Given the description of an element on the screen output the (x, y) to click on. 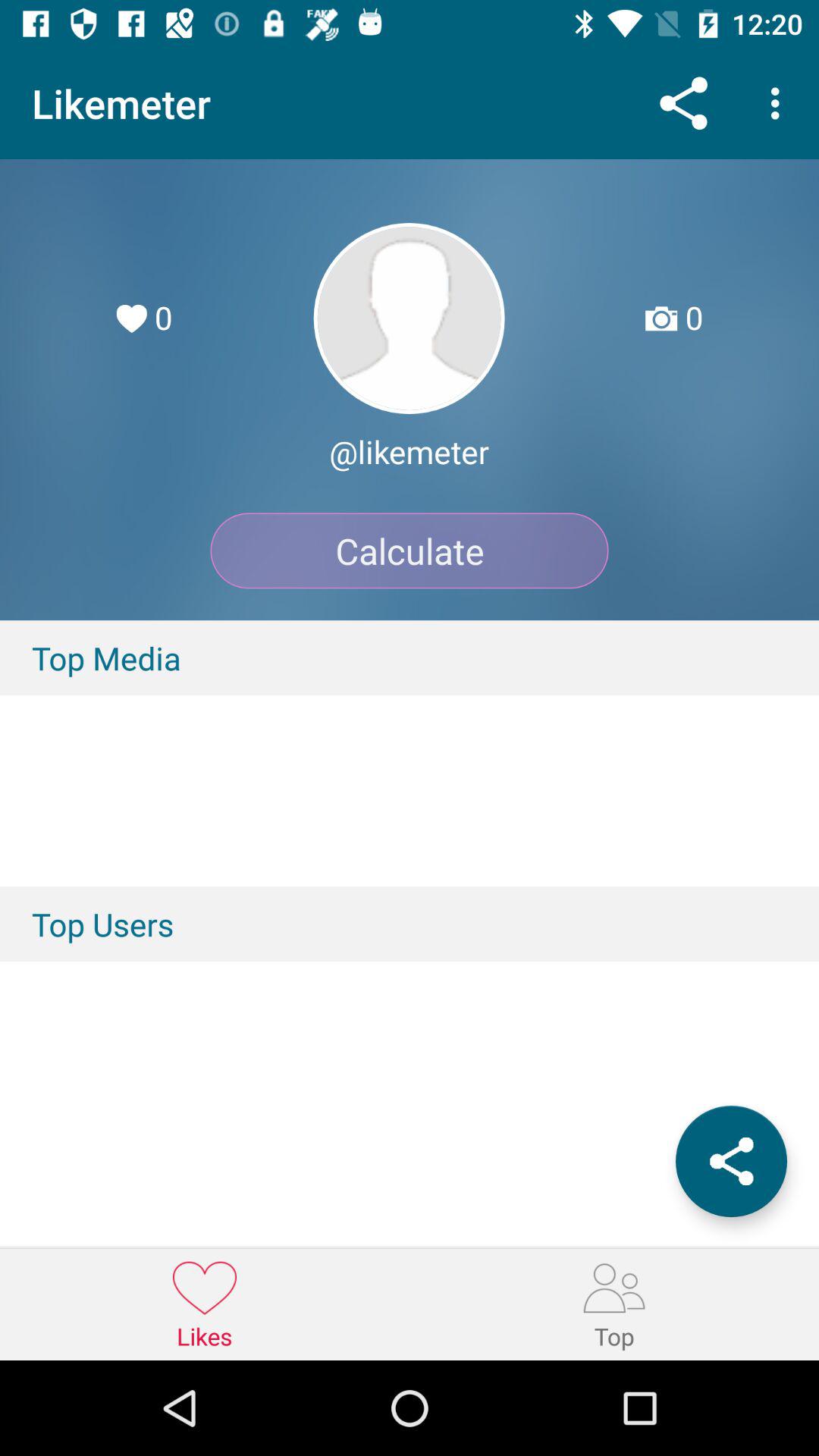
scroll to calculate (409, 550)
